Given the description of an element on the screen output the (x, y) to click on. 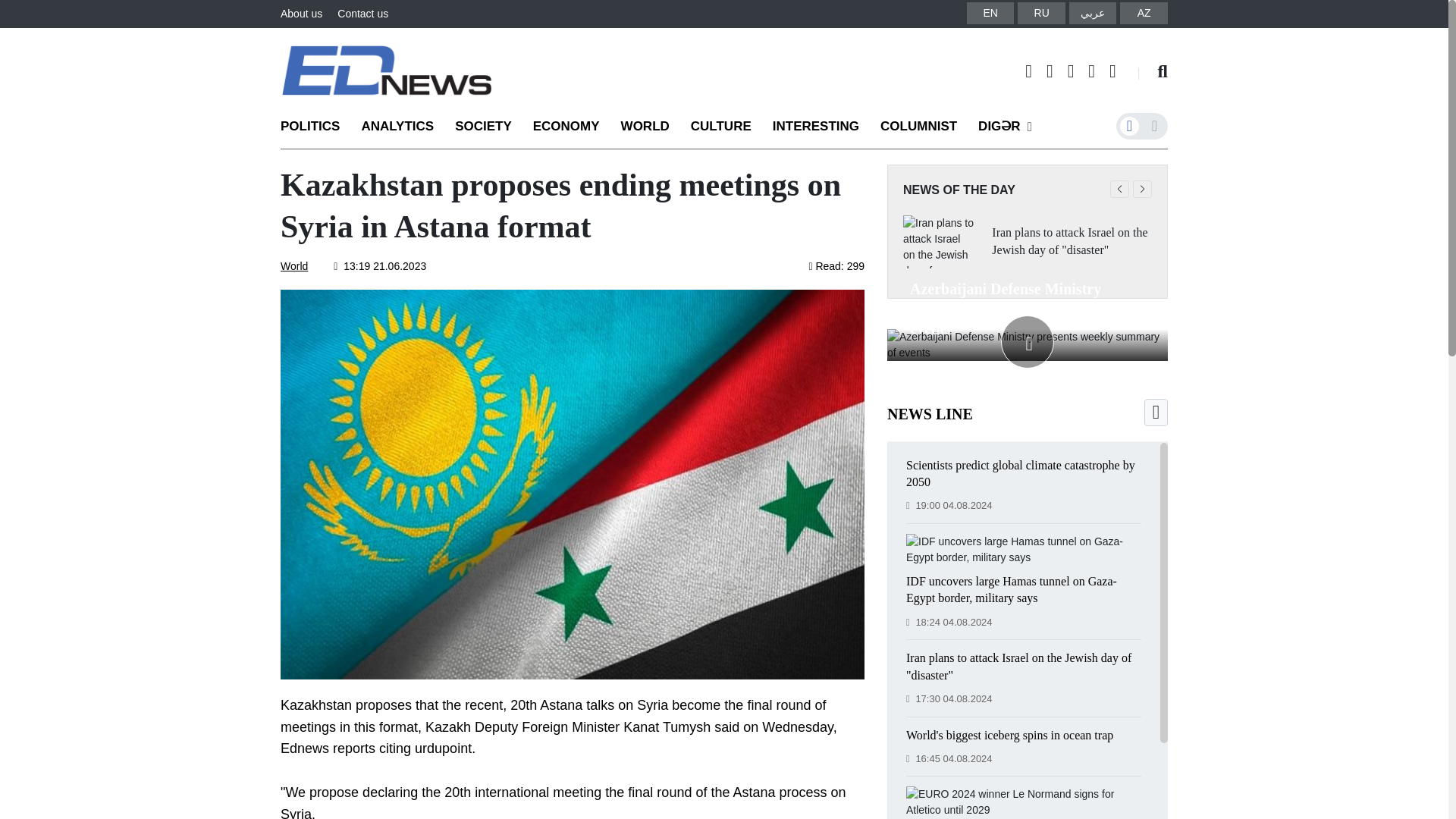
CULTURE (727, 125)
WORLD (651, 125)
AZ (1144, 12)
COLUMNIST (925, 125)
Contact us (362, 13)
POLITICS (317, 125)
RU (1041, 12)
World (294, 265)
INTERESTING (822, 125)
EN (989, 12)
ECONOMY (572, 125)
About us (301, 13)
SOCIETY (489, 125)
ANALYTICS (403, 125)
